Given the description of an element on the screen output the (x, y) to click on. 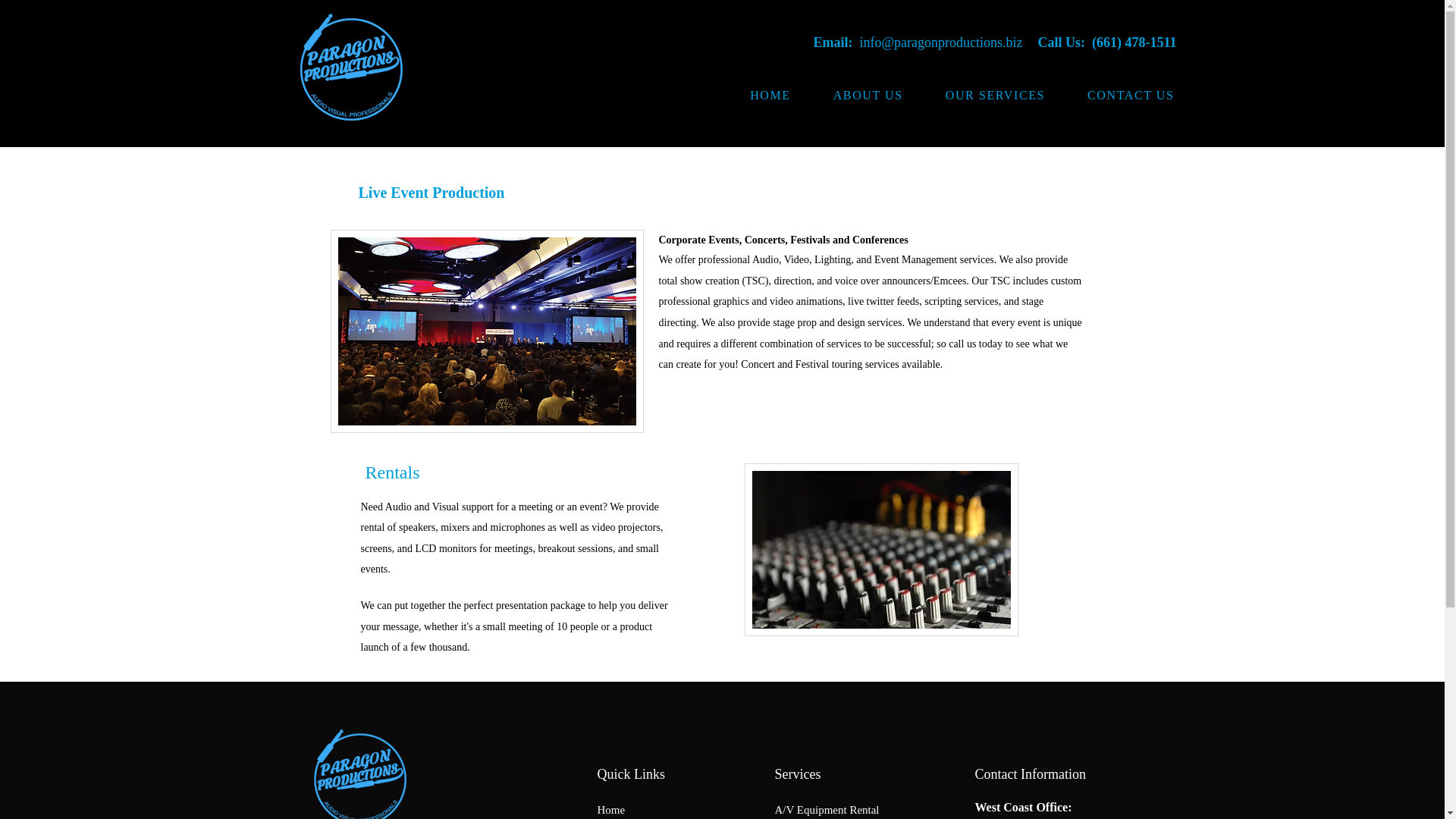
Home (611, 809)
CONTACT US (1130, 95)
HOME (770, 95)
ABOUT US (868, 95)
